Given the description of an element on the screen output the (x, y) to click on. 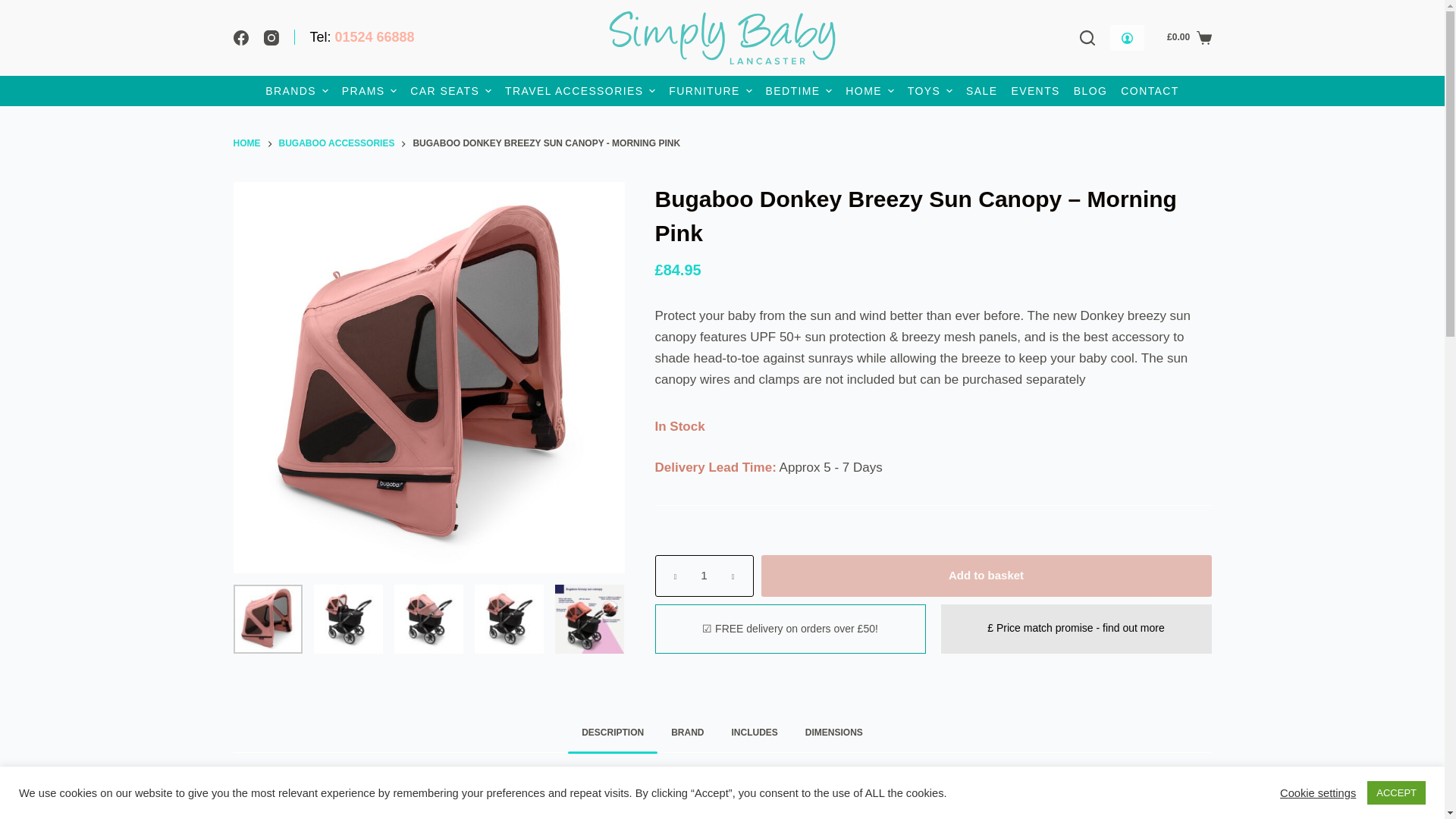
Qty (704, 576)
Tel: 01524 66888 (354, 37)
Skip to content (15, 7)
1 (704, 576)
